Given the description of an element on the screen output the (x, y) to click on. 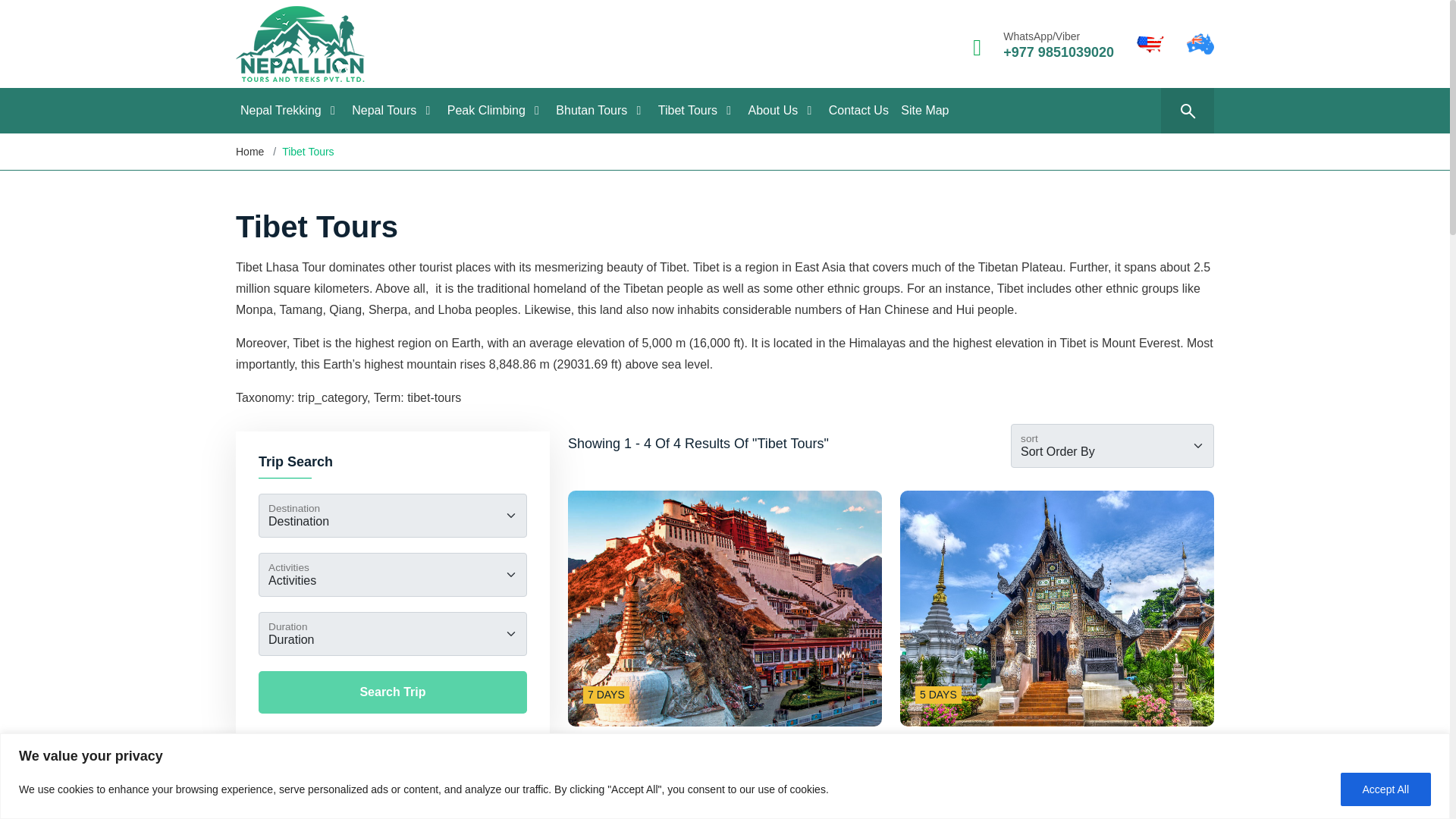
Nepal Trekking (289, 110)
Nepal Trekking (289, 110)
Accept All (1385, 788)
